Given the description of an element on the screen output the (x, y) to click on. 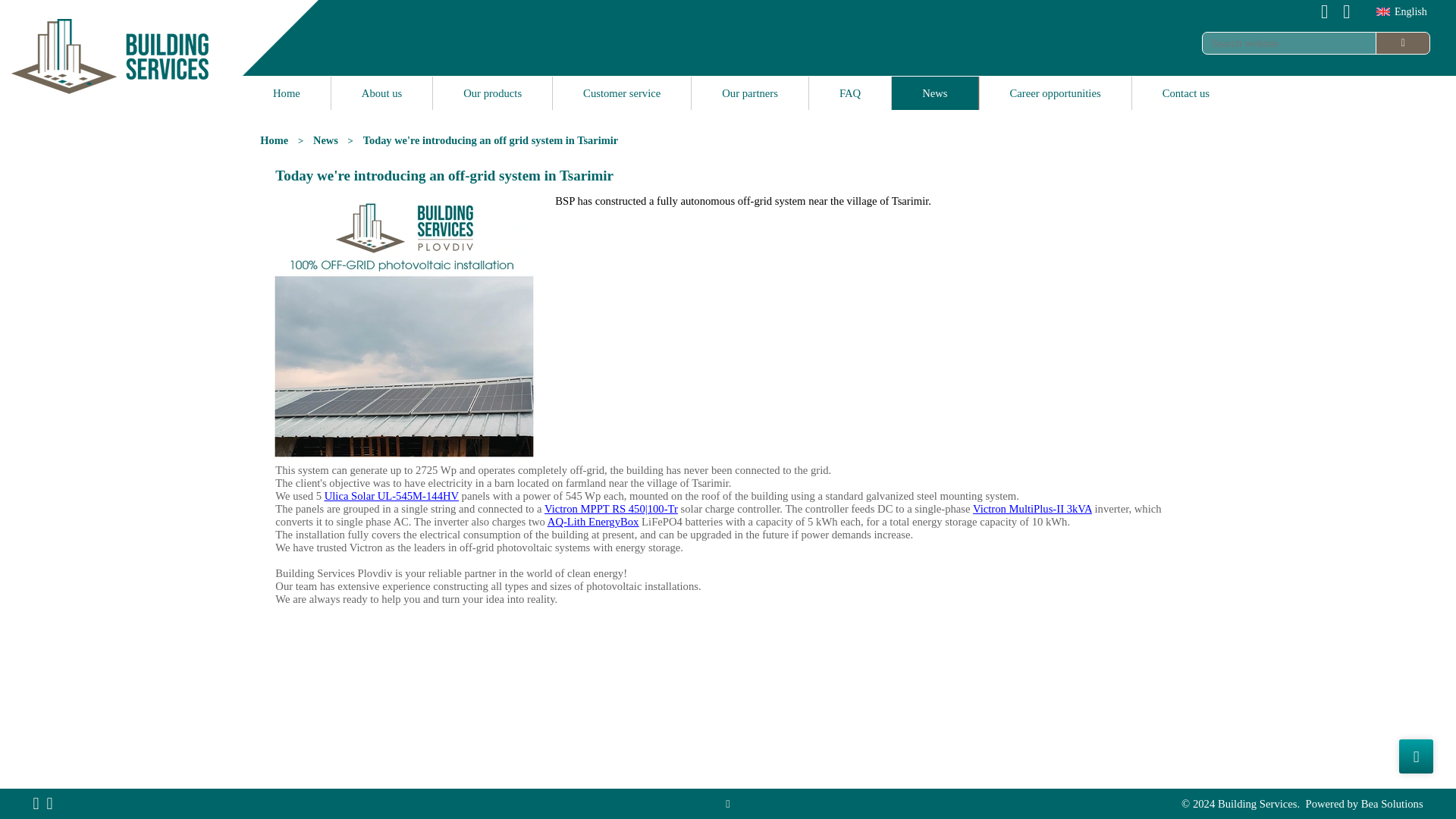
Contact Us (1186, 92)
News (325, 140)
News (934, 92)
English (1382, 11)
Home (274, 140)
FAQ (850, 92)
Customer Service (621, 92)
FAQ (850, 92)
AboutUs (381, 92)
Career Opportunities (1055, 92)
